Given the description of an element on the screen output the (x, y) to click on. 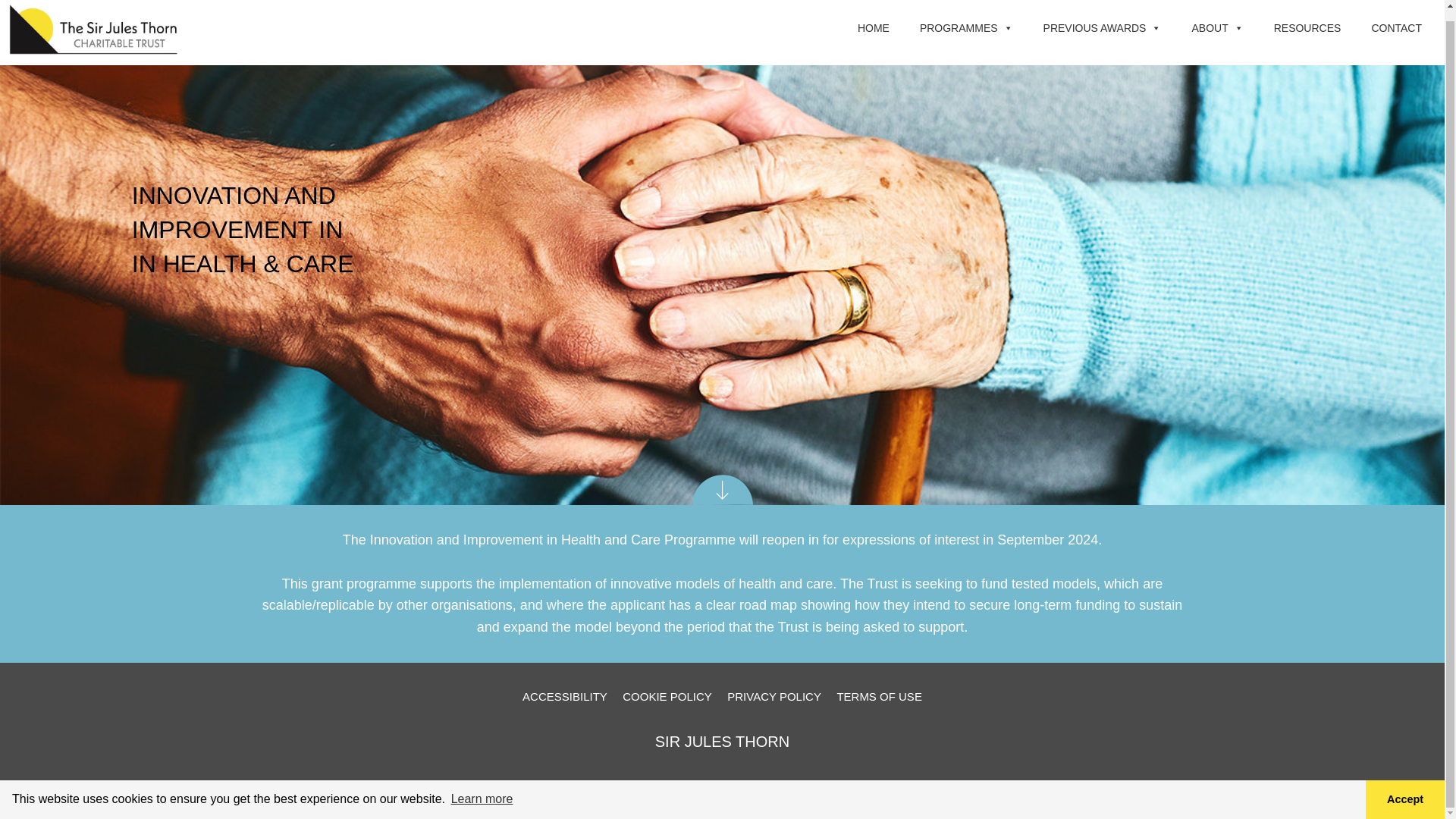
Learn more (481, 788)
PREVIOUS AWARDS (1102, 32)
PROGRAMMES (966, 32)
